Given the description of an element on the screen output the (x, y) to click on. 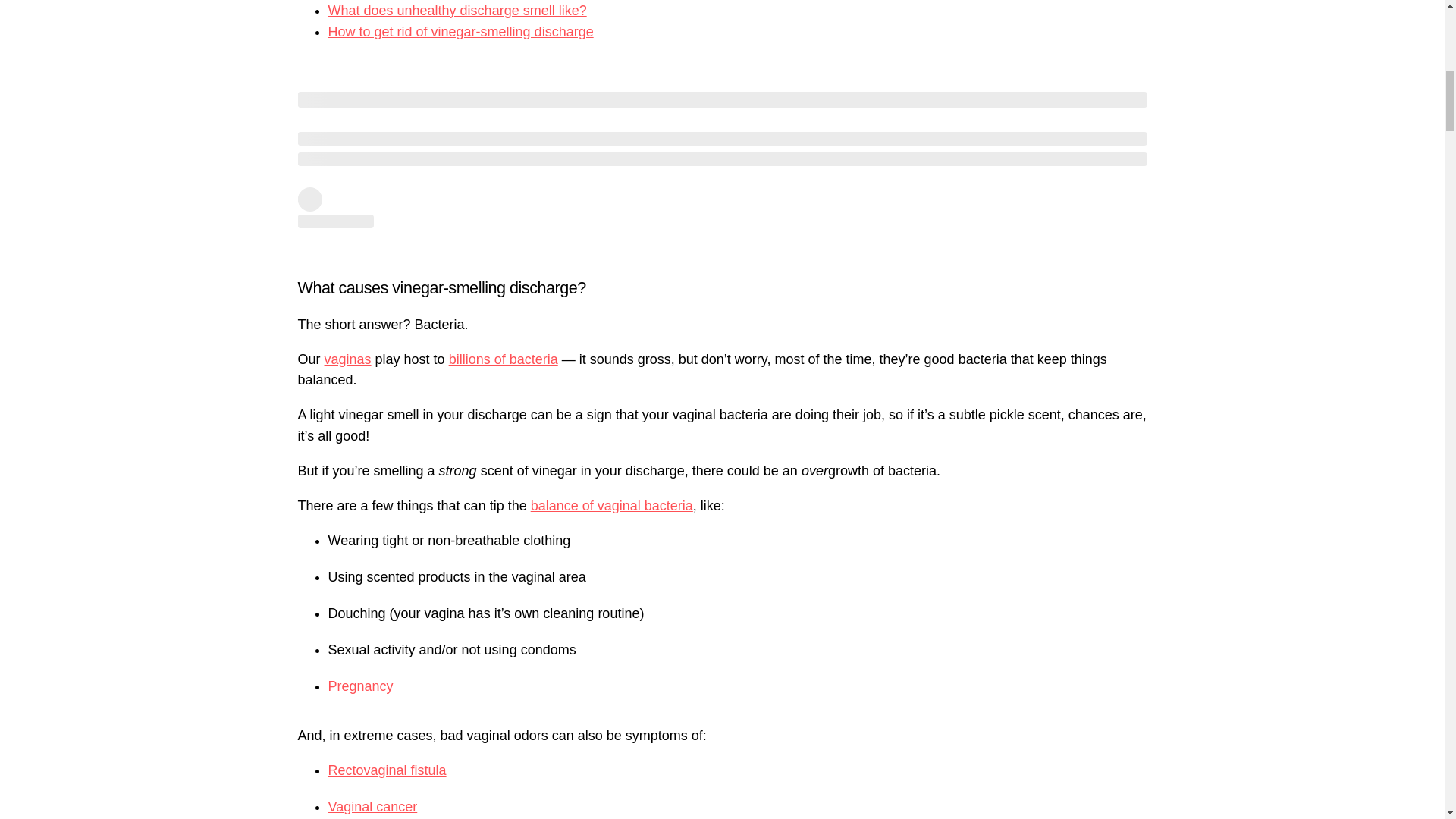
balance of vaginal bacteria (612, 505)
Rectovaginal fistula (386, 770)
billions of bacteria (502, 359)
Vaginal cancer (371, 806)
Pregnancy (360, 685)
vaginas (347, 359)
